Given the description of an element on the screen output the (x, y) to click on. 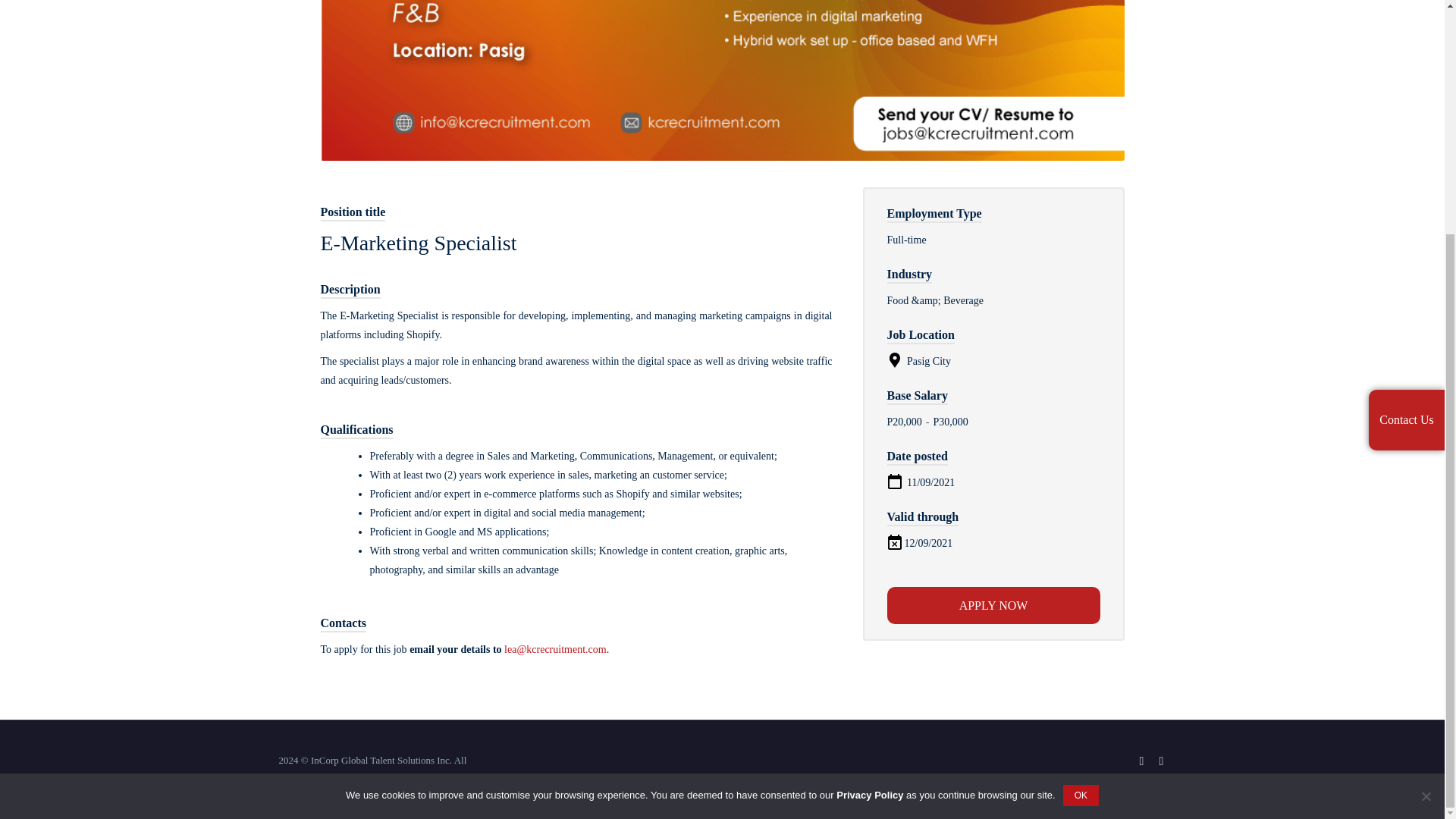
Facebook (1141, 761)
OK (1080, 476)
LinkedIn (1161, 761)
Privacy Policy (868, 476)
APPLY NOW (993, 605)
No (1425, 477)
